Given the description of an element on the screen output the (x, y) to click on. 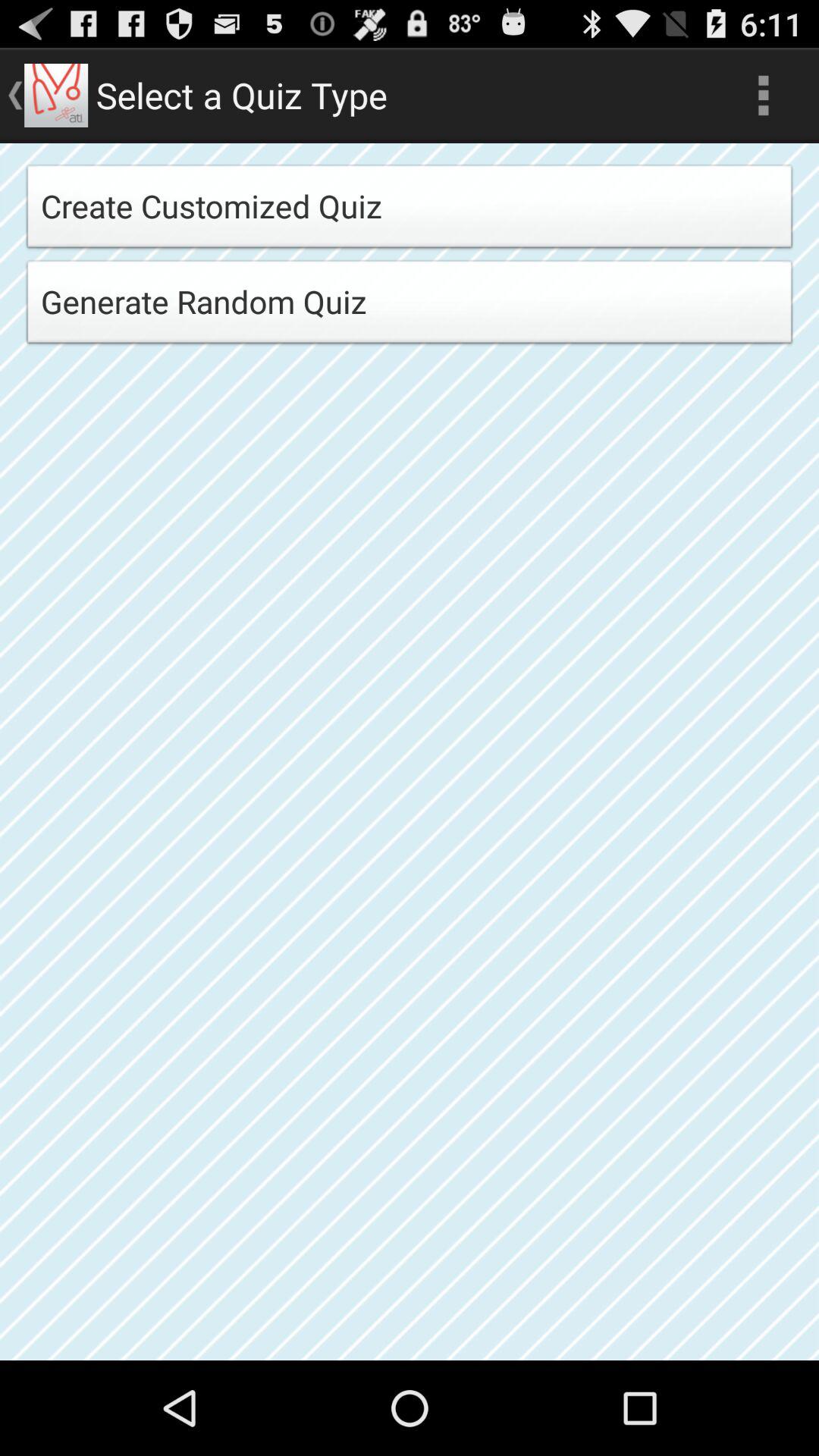
click generate random quiz (409, 306)
